Given the description of an element on the screen output the (x, y) to click on. 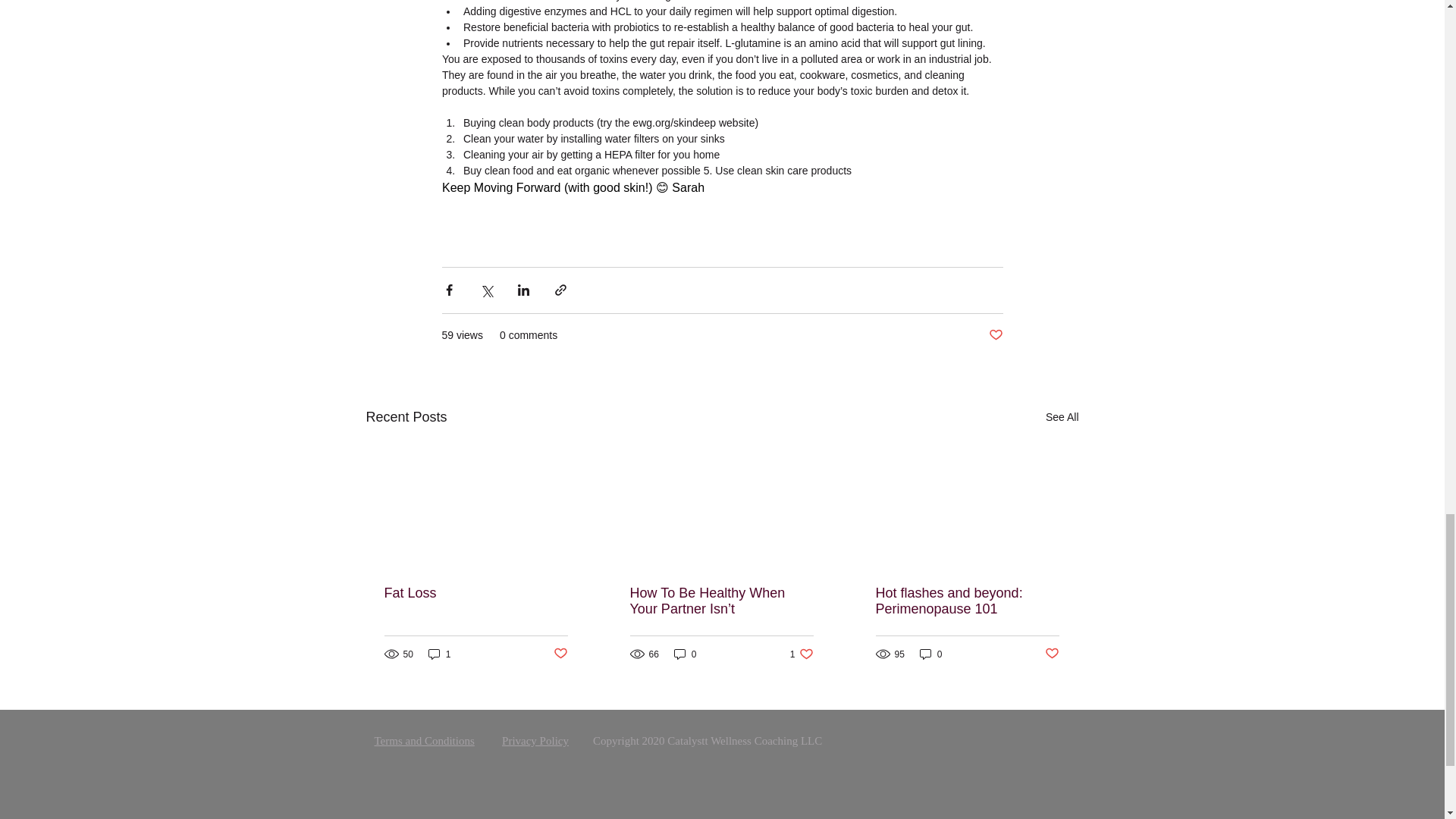
Fat Loss (475, 593)
1 (439, 653)
Post not marked as liked (995, 335)
See All (1061, 417)
Post not marked as liked (560, 653)
